Given the description of an element on the screen output the (x, y) to click on. 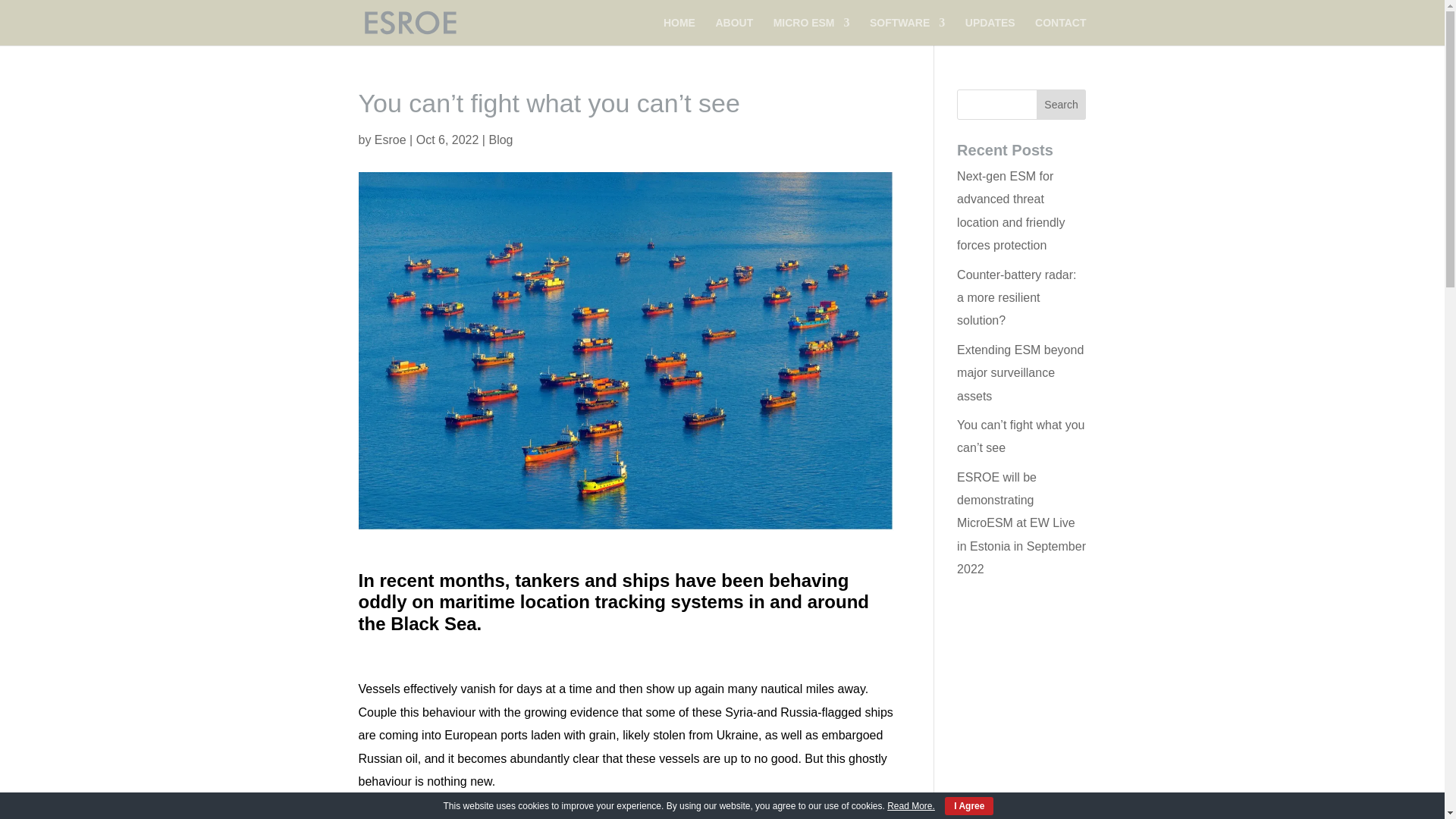
UPDATES (989, 31)
Extending ESM beyond major surveillance assets (1019, 372)
SOFTWARE (906, 31)
HOME (679, 31)
Esroe (390, 139)
Search (1061, 104)
CONTACT (1060, 31)
Counter-battery radar: a more resilient solution? (1015, 297)
MICRO ESM (811, 31)
Search (1061, 104)
ABOUT (733, 31)
Blog (499, 139)
Posts by Esroe (390, 139)
